Given the description of an element on the screen output the (x, y) to click on. 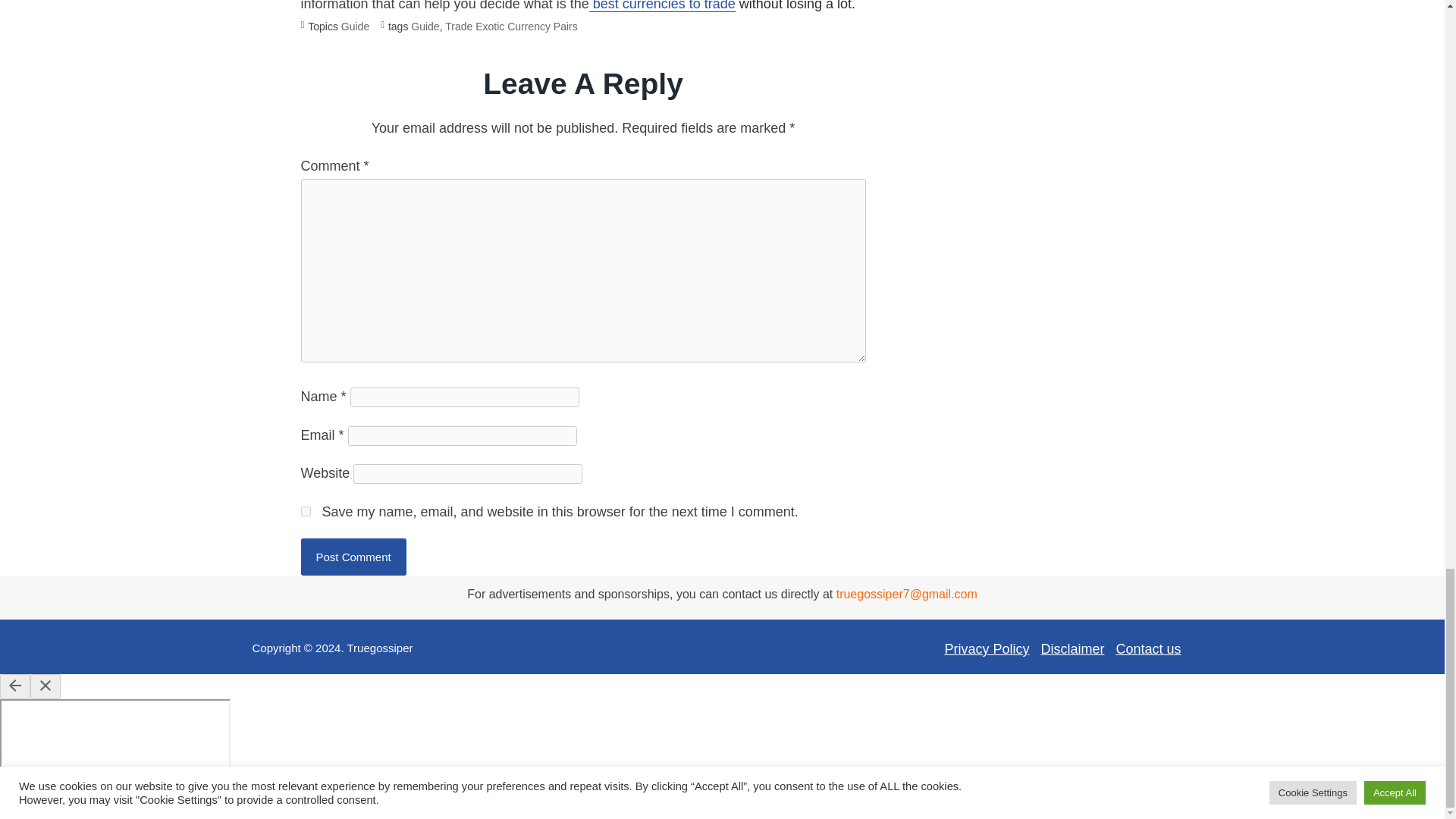
Disclaimer (1072, 648)
best currencies to trade (662, 6)
Guide (354, 26)
Post Comment (352, 556)
Guide (424, 26)
Privacy Policy (986, 648)
yes (304, 511)
Trade Exotic Currency Pairs (511, 26)
Contact us (1147, 648)
Post Comment (352, 556)
